Given the description of an element on the screen output the (x, y) to click on. 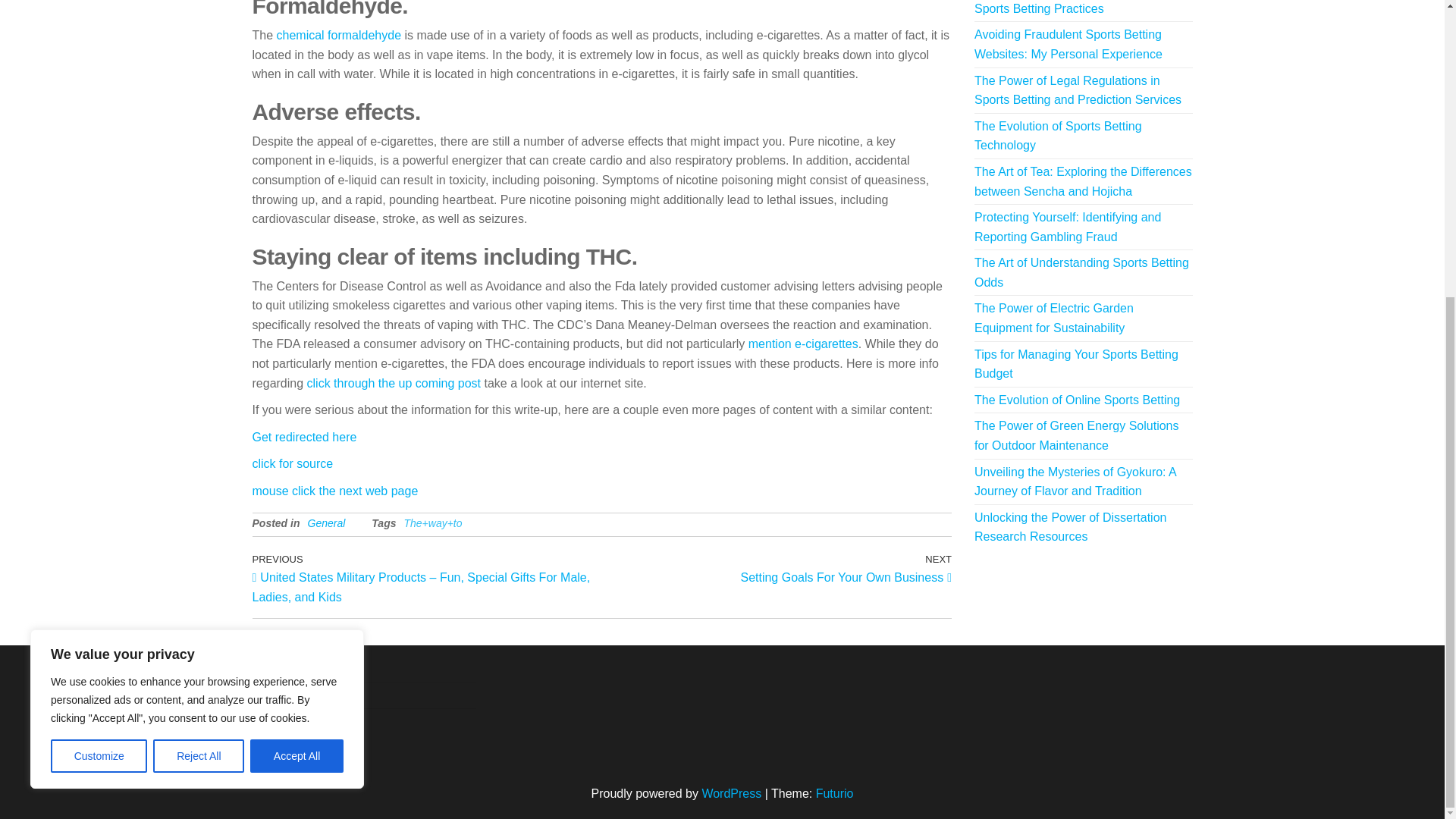
click for source (292, 463)
Get redirected here (303, 436)
mention e-cigarettes (803, 343)
Reject All (777, 567)
mouse click the next web page (198, 297)
Accept All (334, 490)
General (296, 297)
Customize (326, 522)
click through the up coming post (98, 297)
